Given the description of an element on the screen output the (x, y) to click on. 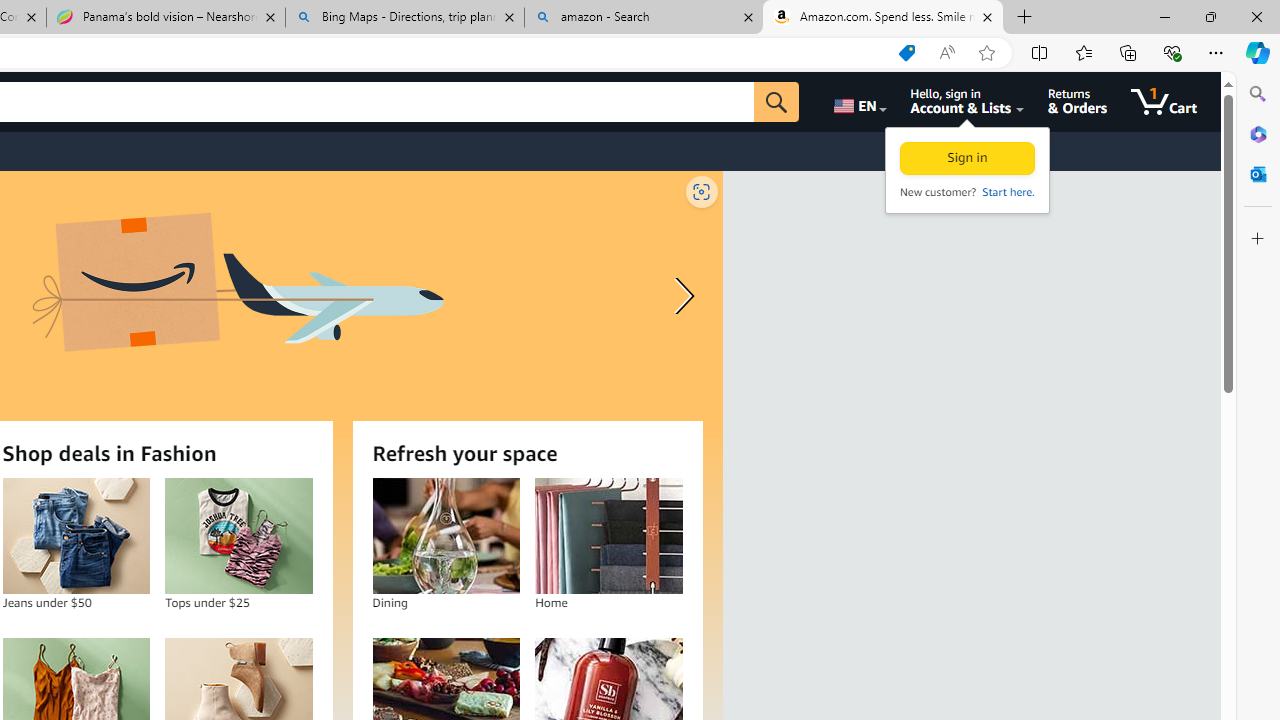
Choose a language for shopping. (858, 101)
1 item in cart (1163, 101)
